Given the description of an element on the screen output the (x, y) to click on. 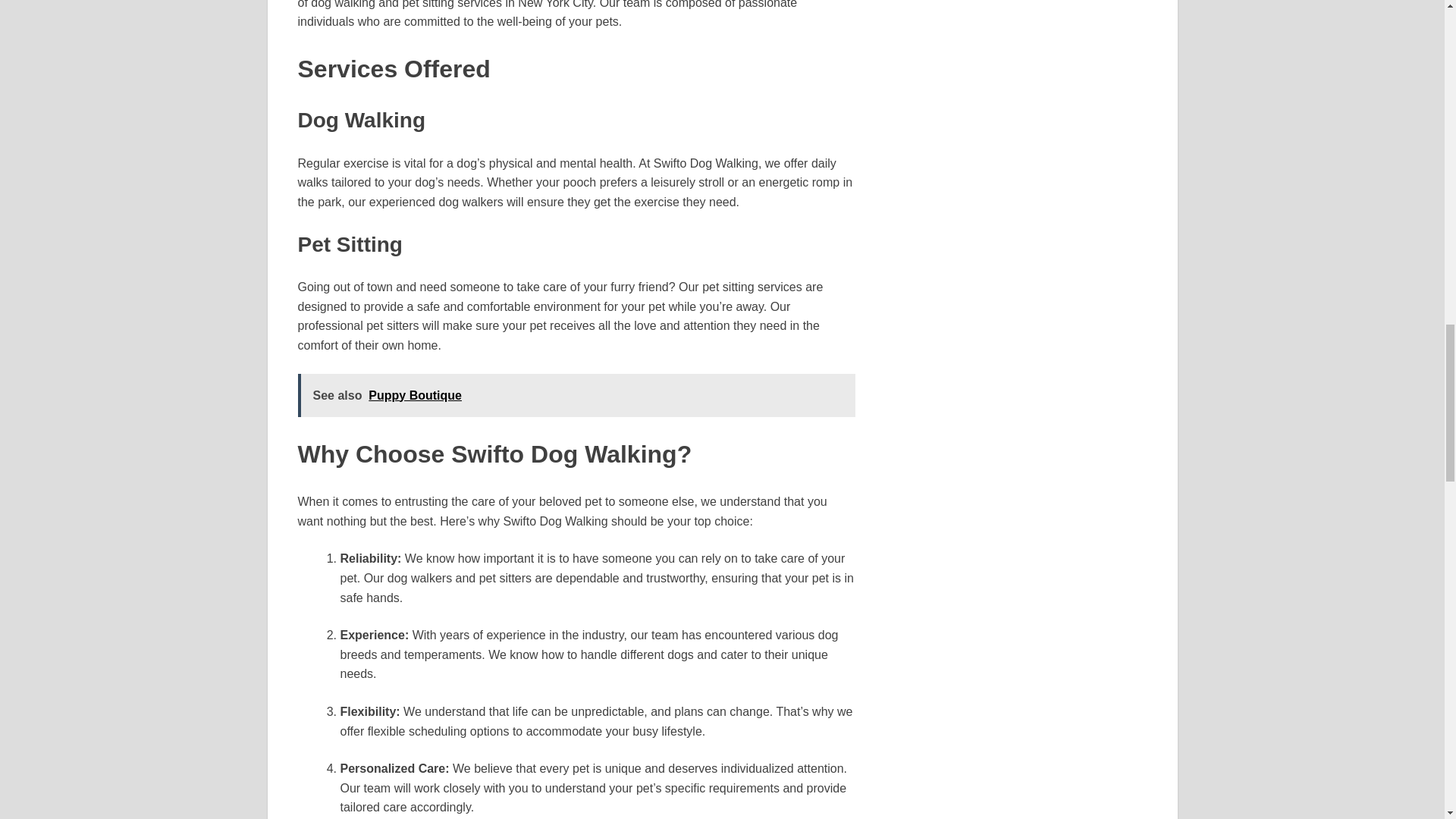
See also  Puppy Boutique (575, 395)
